Given the description of an element on the screen output the (x, y) to click on. 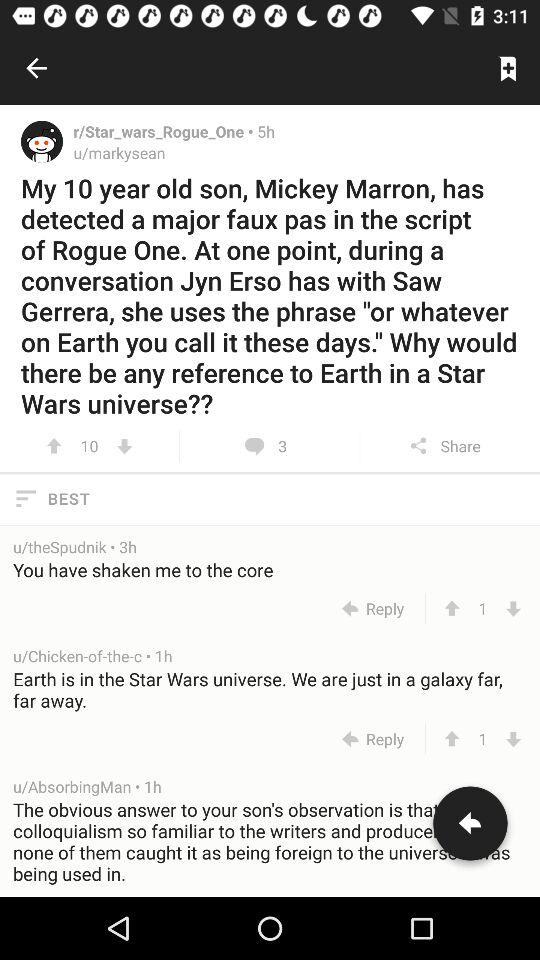
profile (42, 141)
